Given the description of an element on the screen output the (x, y) to click on. 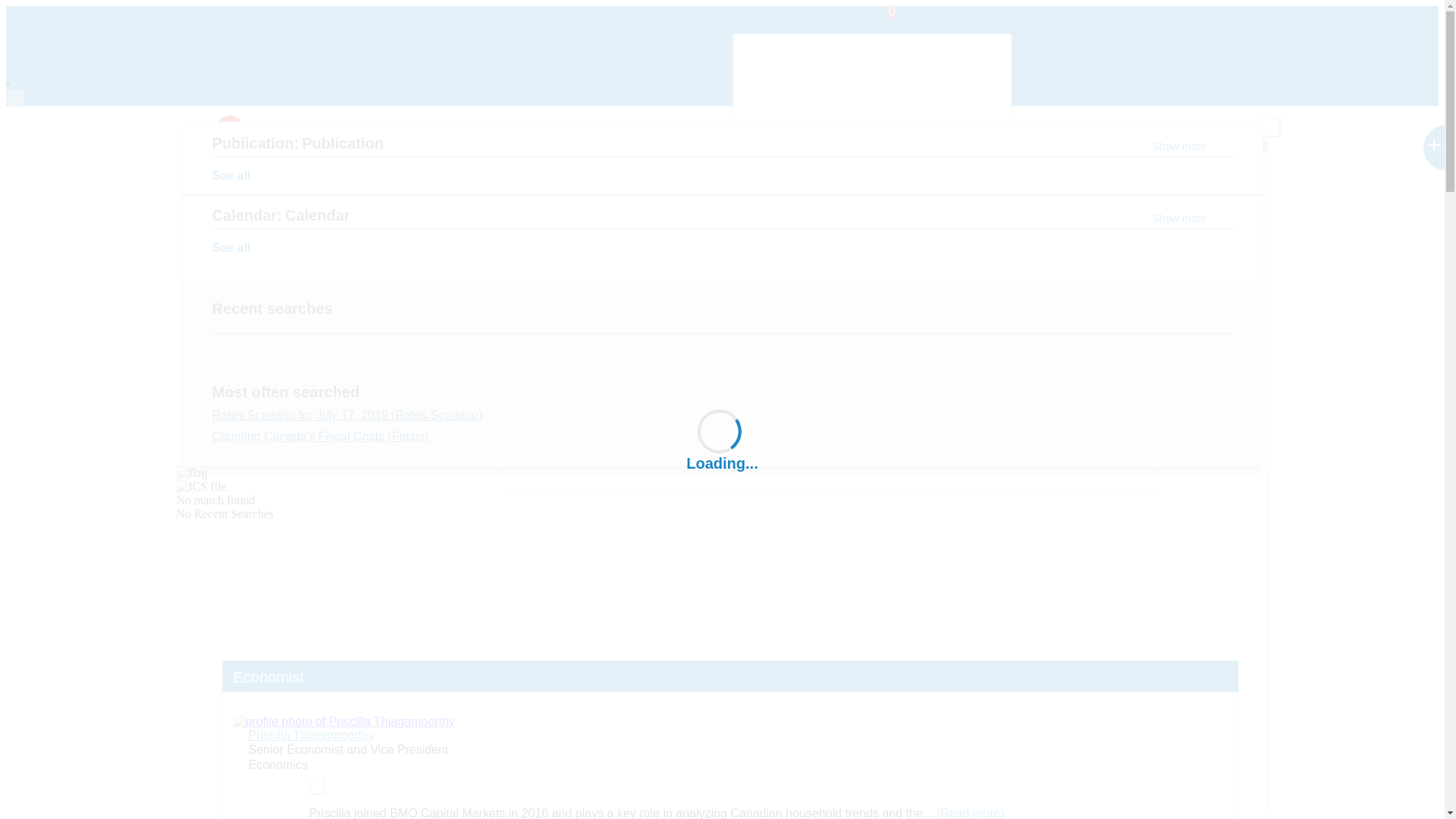
EconoFACTS (918, 231)
0 (883, 23)
Equity Research (691, 128)
Recent Releases (745, 145)
Publications (604, 302)
Calendar (762, 302)
Corporate Debt (589, 128)
Publications (984, 145)
Recent Releases (762, 222)
Mail (226, 487)
text (400, 155)
Bookmark (226, 423)
Macro Strategy (490, 128)
Capital Markets (391, 128)
Our Economists (1224, 145)
